Given the description of an element on the screen output the (x, y) to click on. 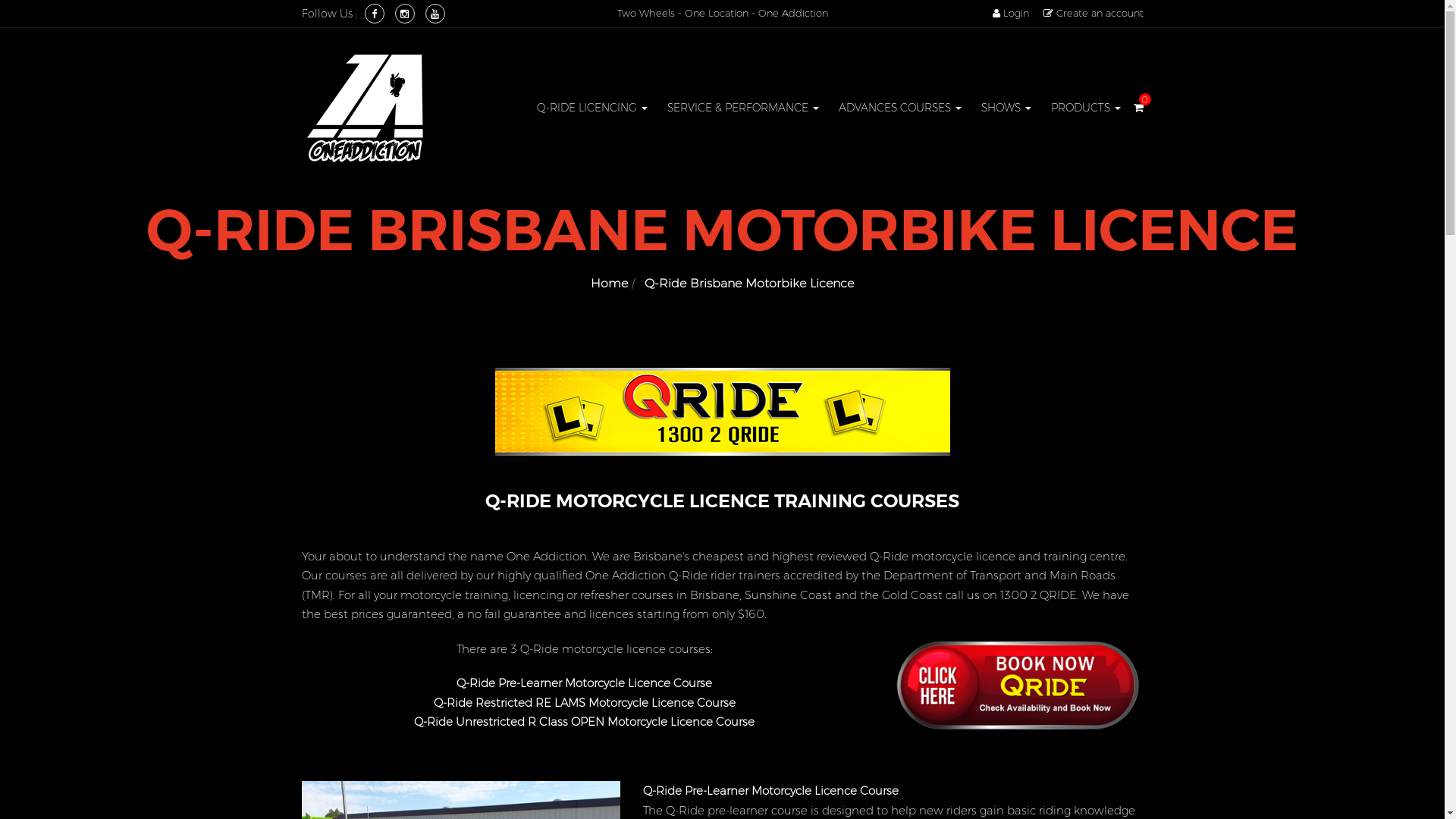
SHOWS Element type: text (1005, 107)
PRODUCTS Element type: text (1084, 107)
Q-Ride Pre-Learner Motorcycle Licence Course Element type: text (584, 682)
0 Element type: text (1137, 107)
Q-Ride Unrestricted R Class OPEN Motorcycle Licence Course Element type: text (584, 721)
ADVANCES COURSES Element type: text (899, 107)
SERVICE & PERFORMANCE Element type: text (742, 107)
One Addiction Element type: hover (365, 106)
Home Element type: text (608, 283)
Q-Ride Brisbane Motorbike Licence Element type: text (748, 283)
Q-Ride Restricted RE LAMS Motorcycle Licence Course Element type: text (584, 702)
Login Element type: text (1009, 13)
Q-RIDE LICENCING Element type: text (591, 107)
Create an account Element type: text (1093, 13)
